Given the description of an element on the screen output the (x, y) to click on. 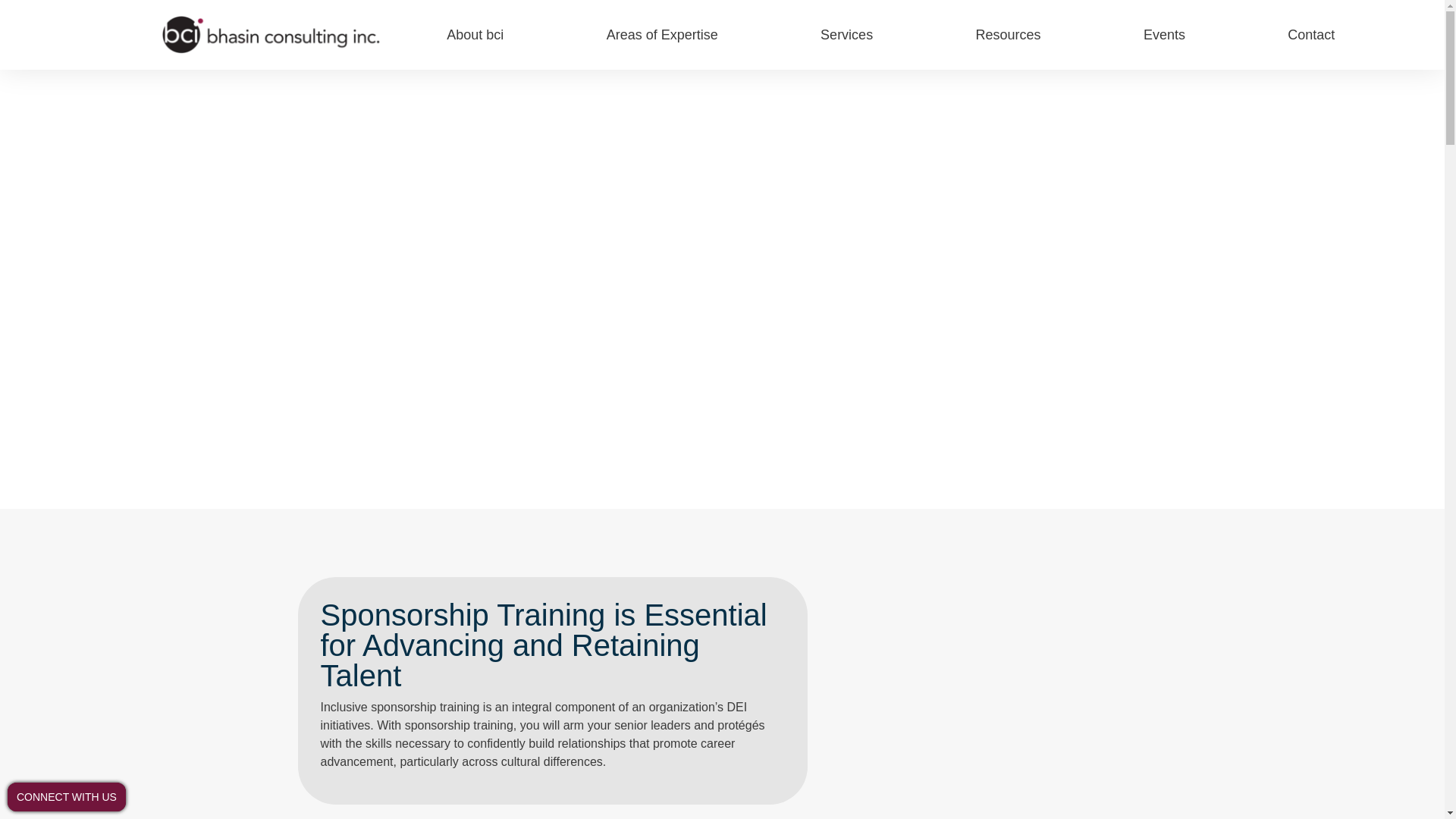
Events (1164, 34)
Areas of Expertise (661, 34)
Resources (1008, 34)
Contact (1311, 34)
About bci (475, 34)
Services (845, 34)
